Given the description of an element on the screen output the (x, y) to click on. 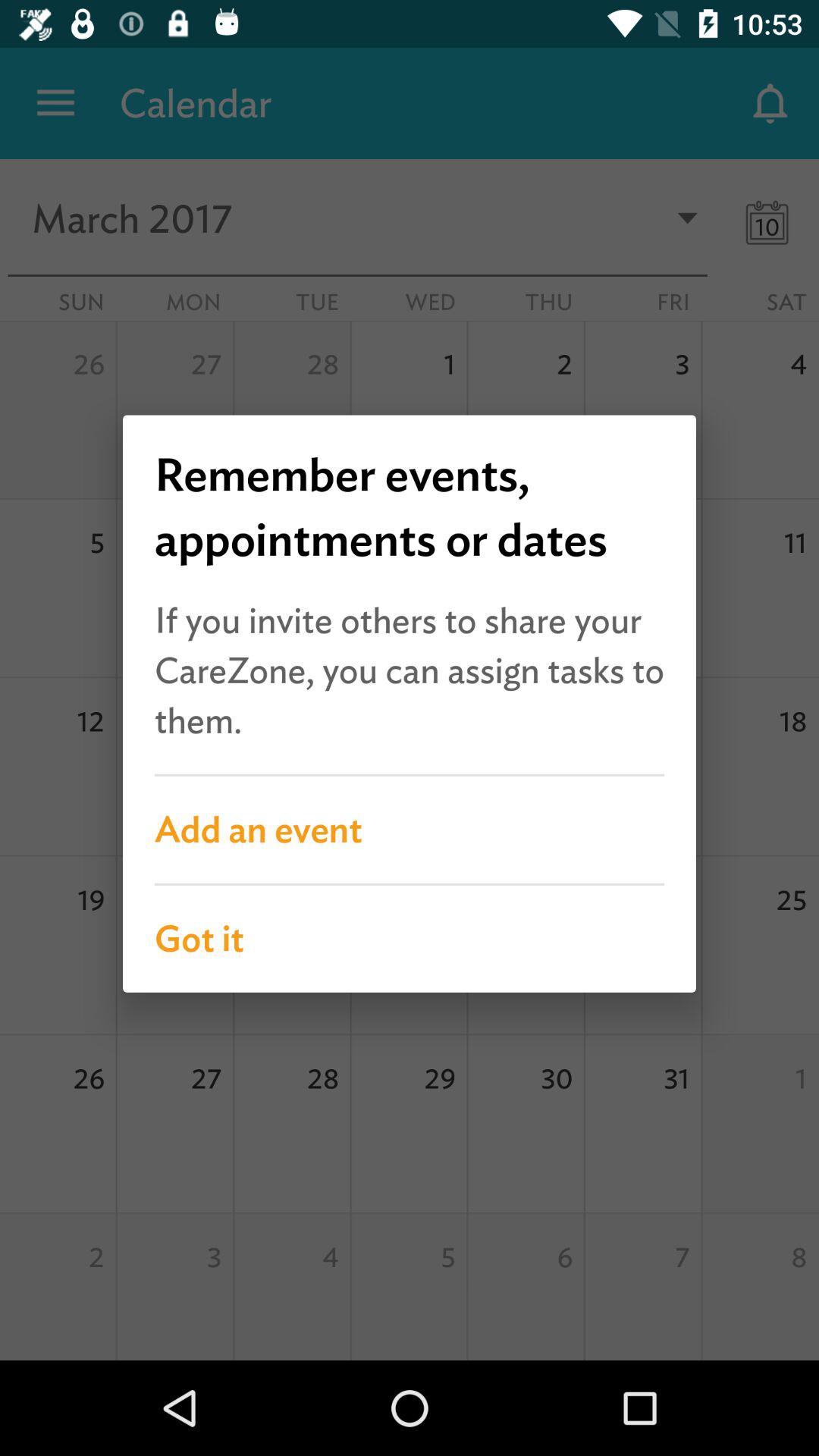
turn on the add an event item (409, 829)
